Given the description of an element on the screen output the (x, y) to click on. 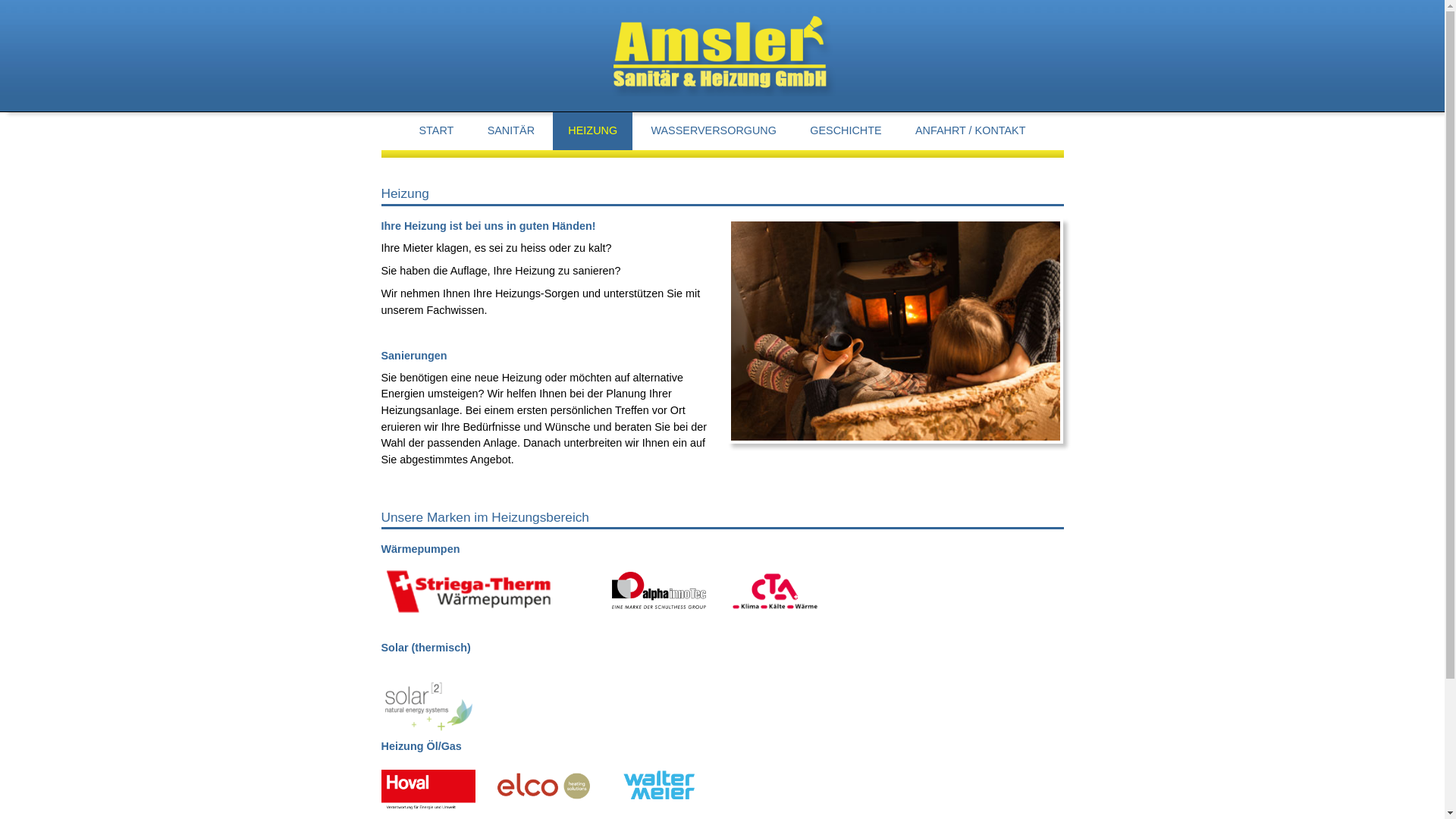
GESCHICHTE Element type: text (845, 130)
HEIZUNG Element type: text (592, 130)
START Element type: text (435, 130)
WASSERVERSORGUNG Element type: text (713, 130)
ANFAHRT / KONTAKT Element type: text (970, 130)
